Given the description of an element on the screen output the (x, y) to click on. 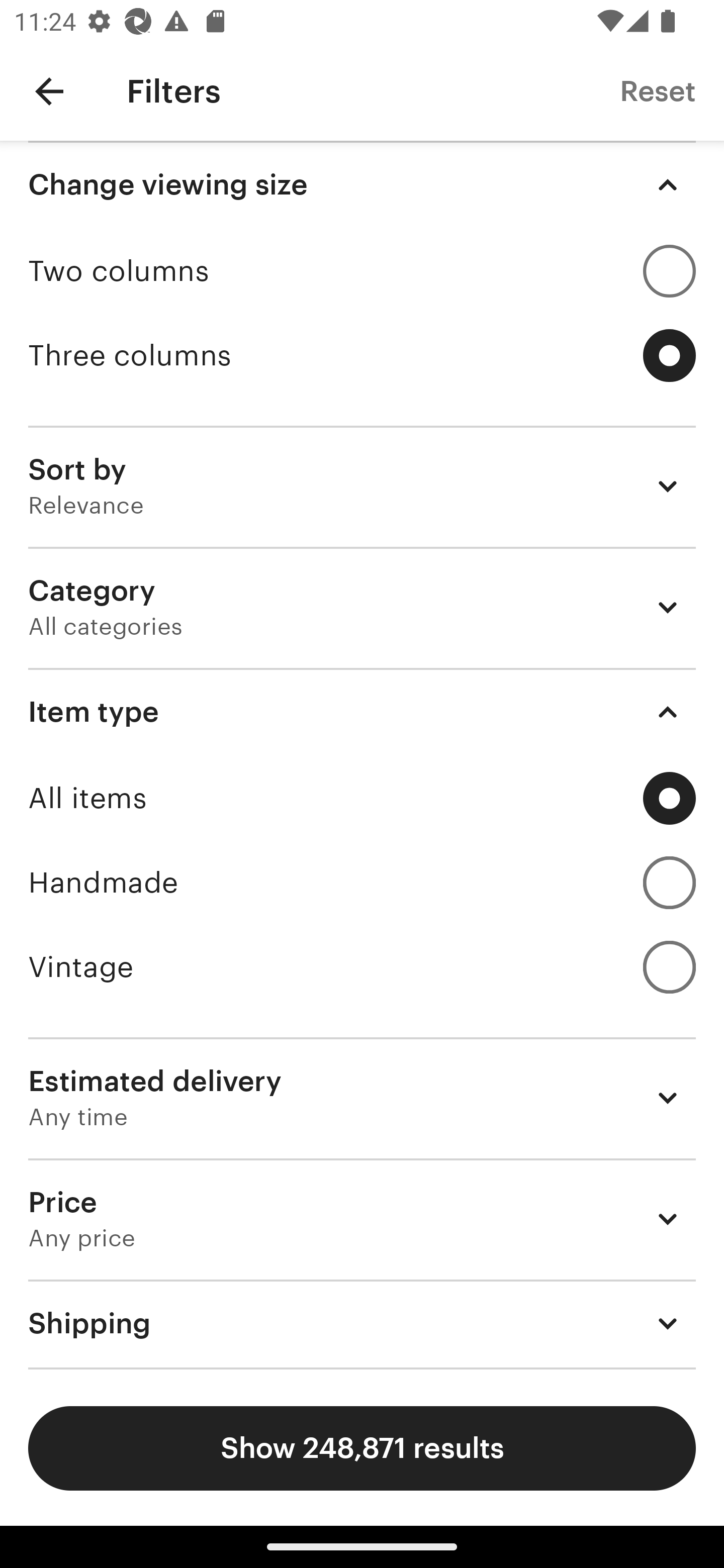
Navigate up (49, 91)
Reset (657, 90)
Change viewing size (362, 184)
Two columns (362, 270)
Three columns (362, 355)
Sort by Relevance (362, 485)
Category All categories (362, 607)
Item type (362, 711)
All items (362, 797)
Handmade (362, 882)
Vintage (362, 967)
Estimated delivery Any time (362, 1098)
Price Any price (362, 1218)
Shipping (362, 1323)
Show 248,871 results (361, 1448)
